Given the description of an element on the screen output the (x, y) to click on. 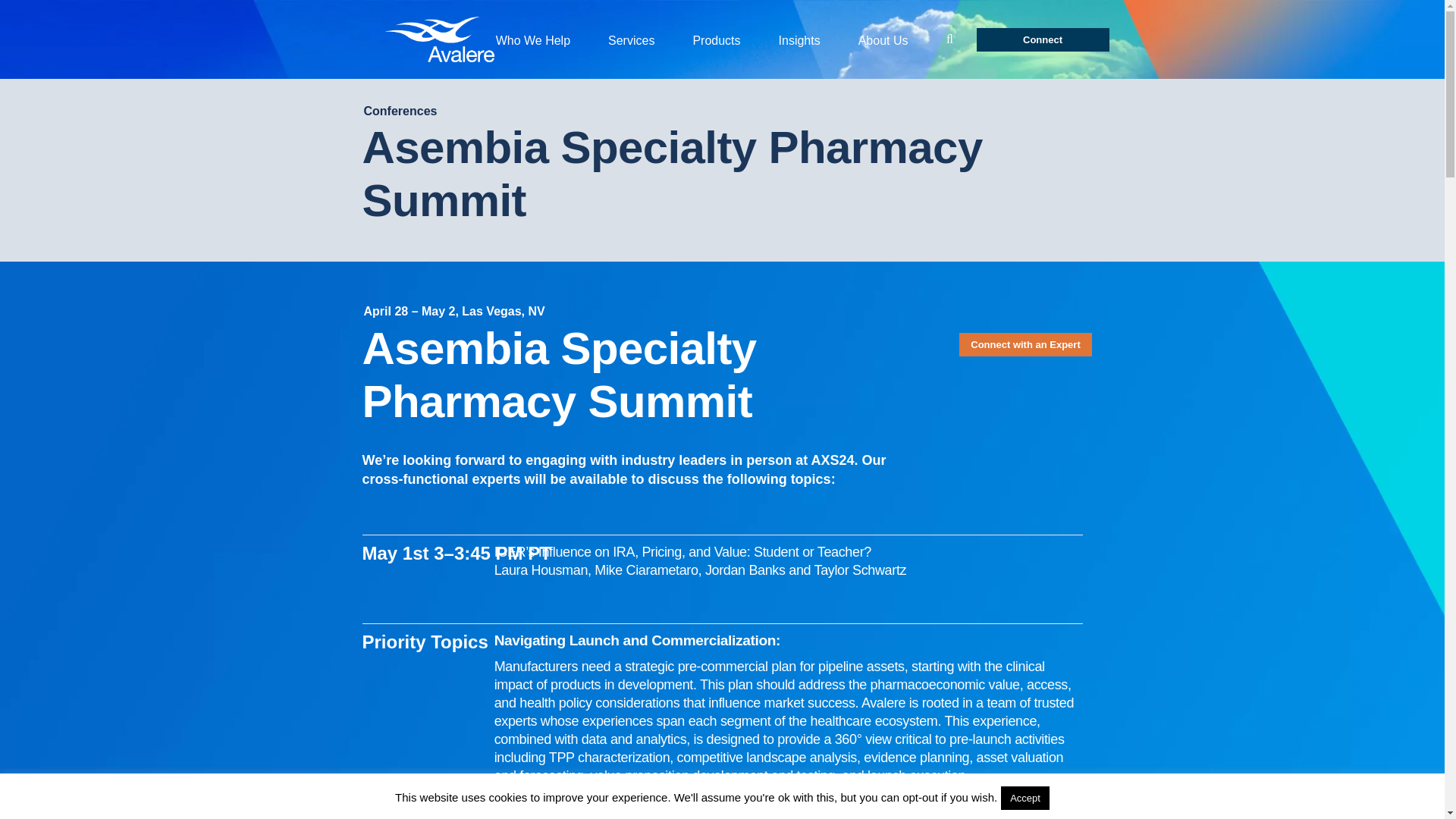
Connect (1042, 39)
About Us (883, 39)
Products (715, 39)
Submit (949, 39)
Insights (800, 39)
Avalere (442, 39)
Who We Help (533, 39)
Services (630, 39)
